Given the description of an element on the screen output the (x, y) to click on. 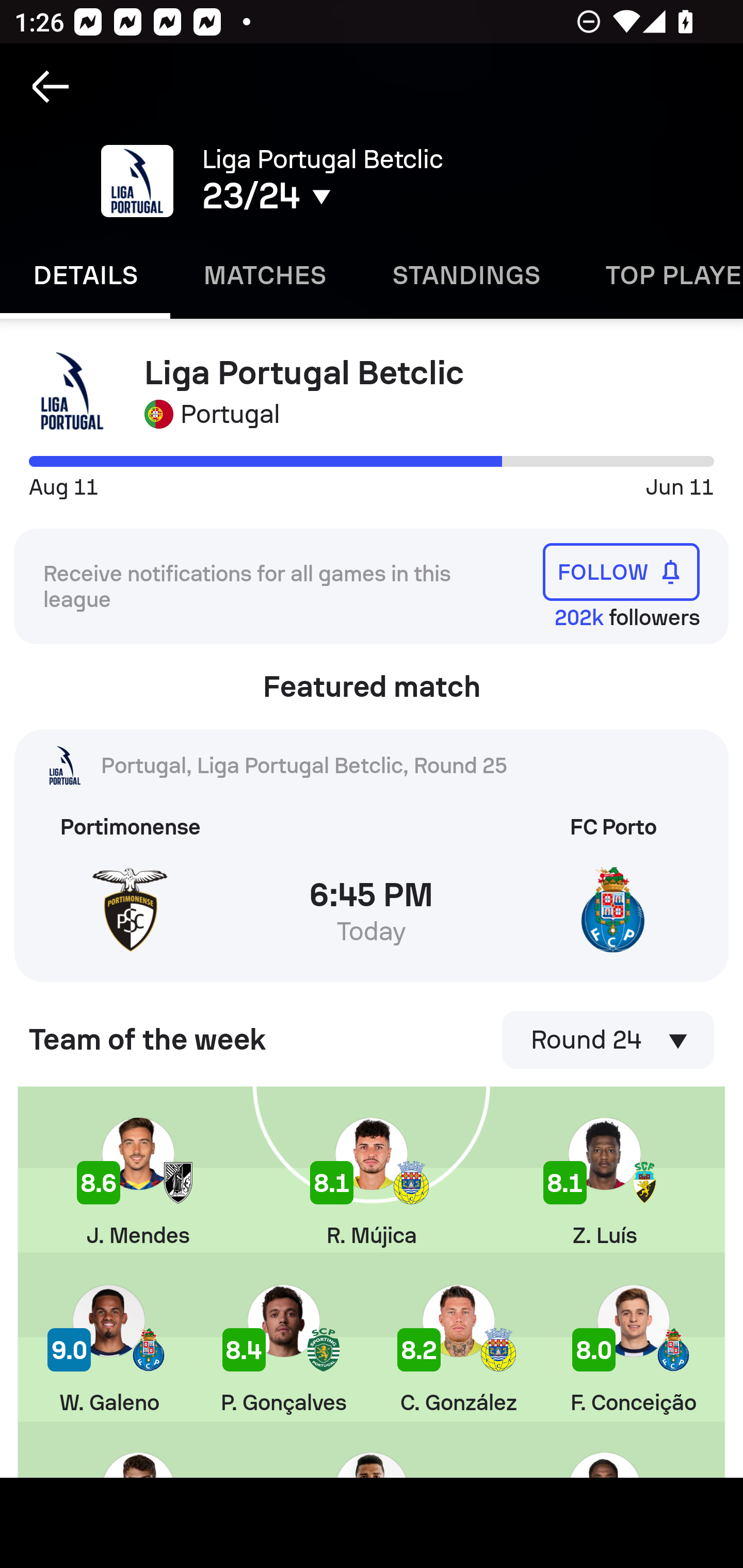
Navigate up (50, 86)
23/24 (350, 195)
Matches MATCHES (264, 275)
Standings STANDINGS (465, 275)
Top players TOP PLAYERS (657, 275)
FOLLOW (621, 571)
Round 24 (608, 1040)
J. Mendes (137, 1182)
R. Mújica (371, 1182)
Z. Luís (604, 1182)
W. Galeno (108, 1349)
P. Gonçalves (283, 1349)
C. González (458, 1349)
F. Conceição (633, 1349)
